Given the description of an element on the screen output the (x, y) to click on. 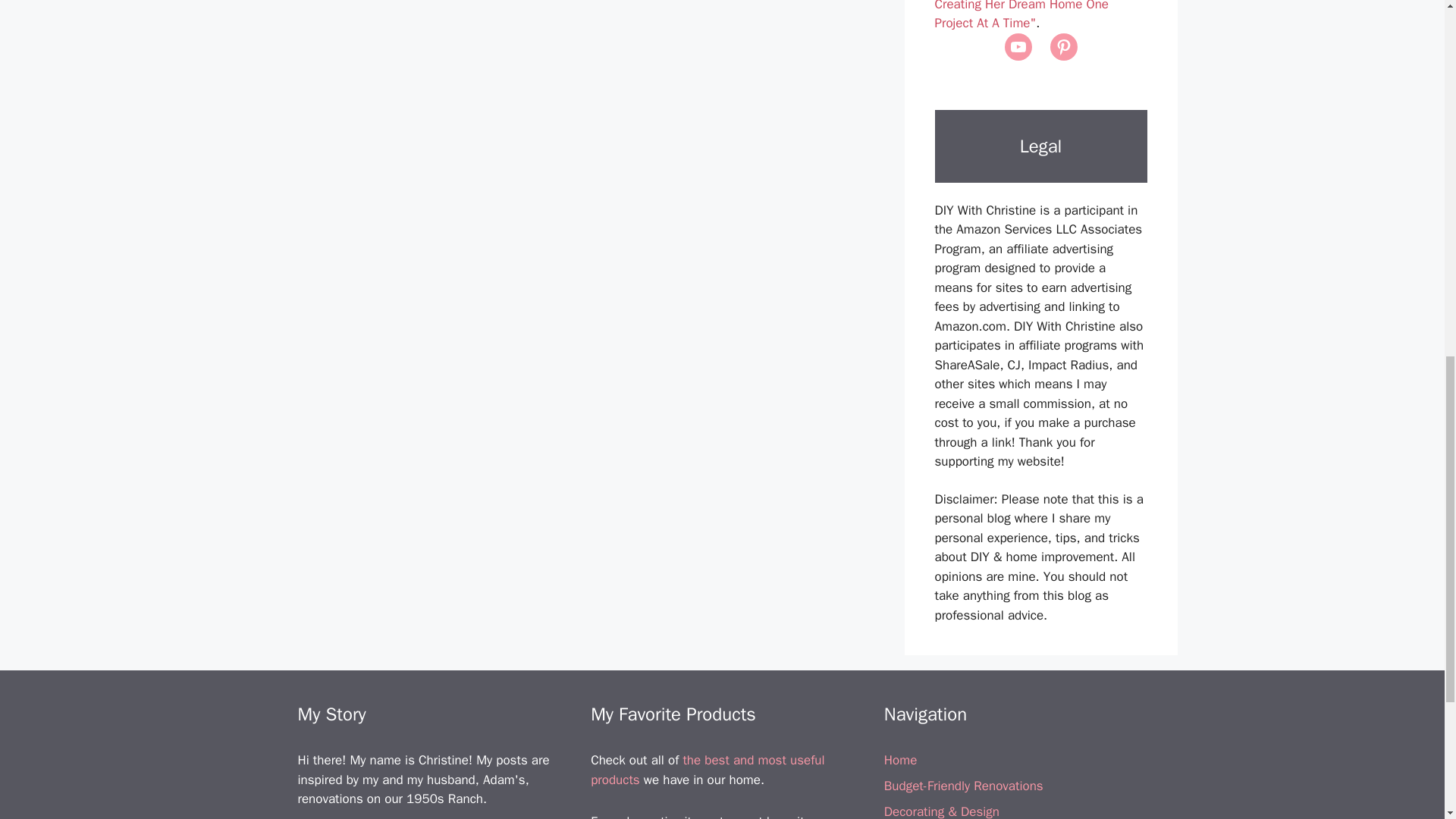
Budget-Friendly Renovations (963, 785)
the best and most useful products (707, 769)
Home (900, 760)
Scroll back to top (1406, 720)
Pinterest (1063, 46)
YouTube (1017, 46)
